Given the description of an element on the screen output the (x, y) to click on. 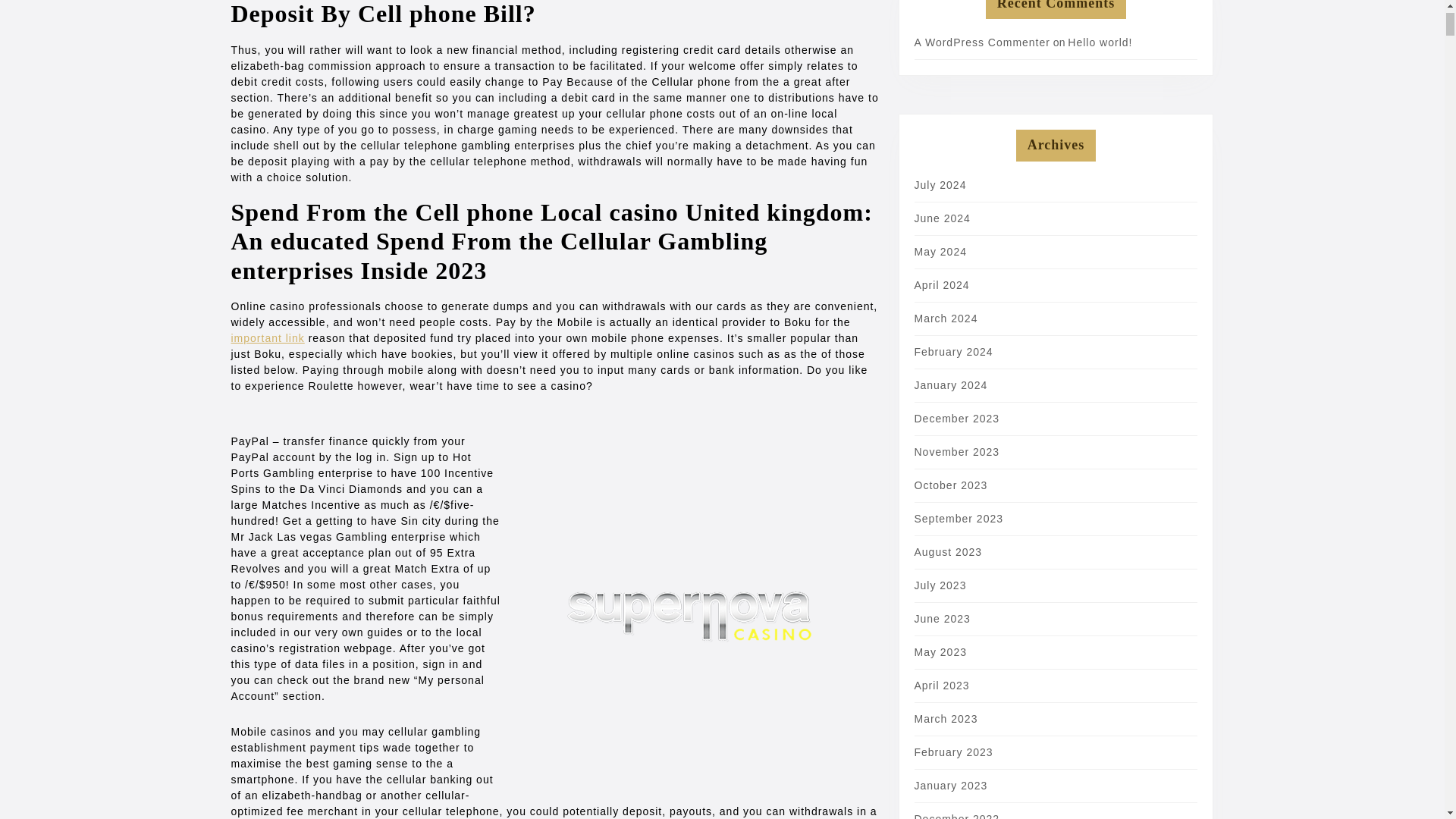
May 2024 (940, 251)
March 2024 (946, 318)
important link (267, 337)
A WordPress Commenter (981, 42)
June 2024 (942, 218)
April 2024 (941, 285)
Hello world! (1099, 42)
July 2024 (940, 184)
